Given the description of an element on the screen output the (x, y) to click on. 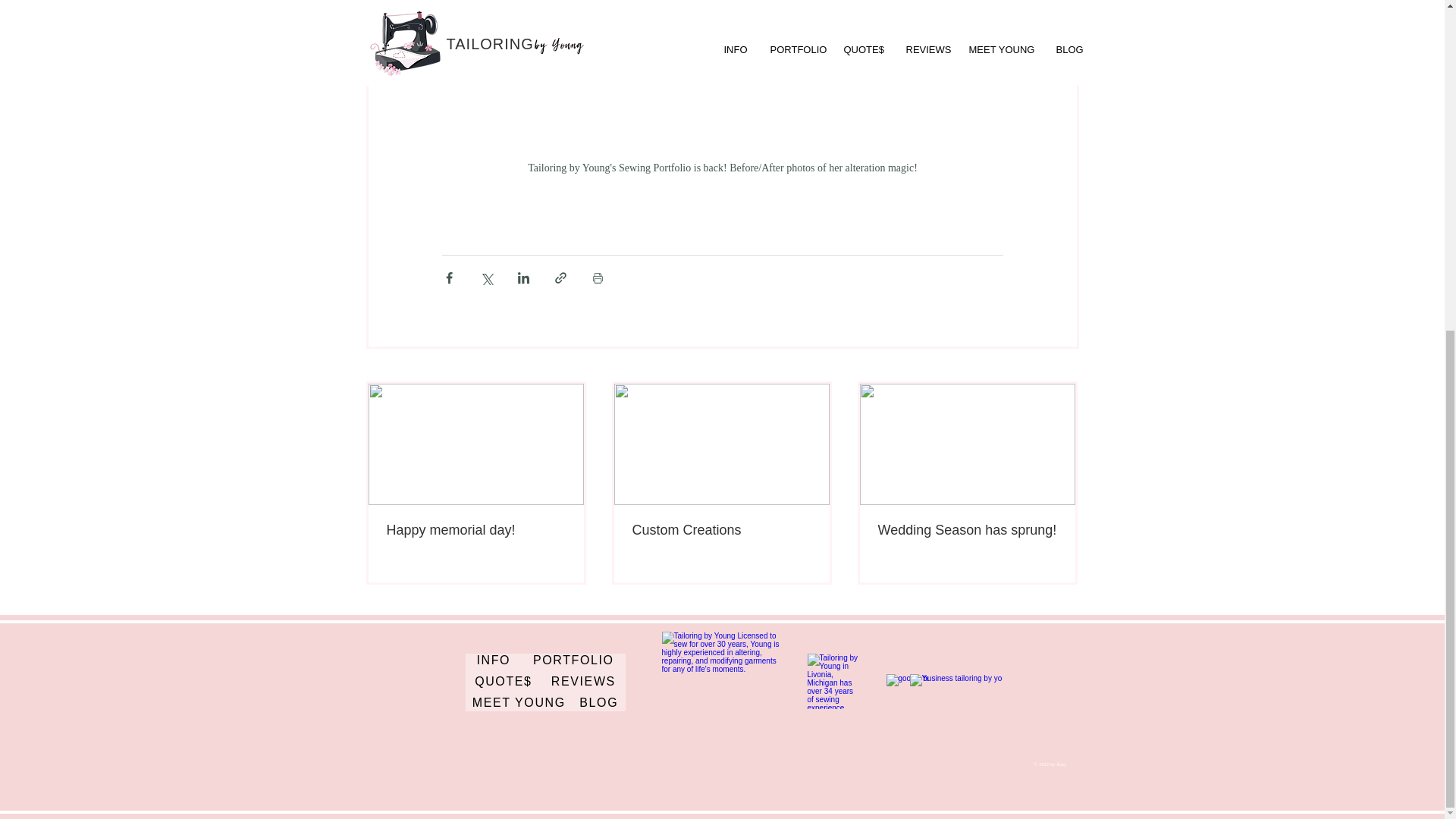
PORTFOLIO (572, 661)
Happy memorial day! (476, 530)
Sew lets make your clothes fit you like a dream! (833, 681)
Custom Creations (720, 530)
Wedding Season has sprung! (967, 530)
MEET YOUNG (519, 703)
BLOG (598, 703)
REVIEWS (582, 682)
Sew lovely to see you! (721, 683)
INFO (493, 661)
